Given the description of an element on the screen output the (x, y) to click on. 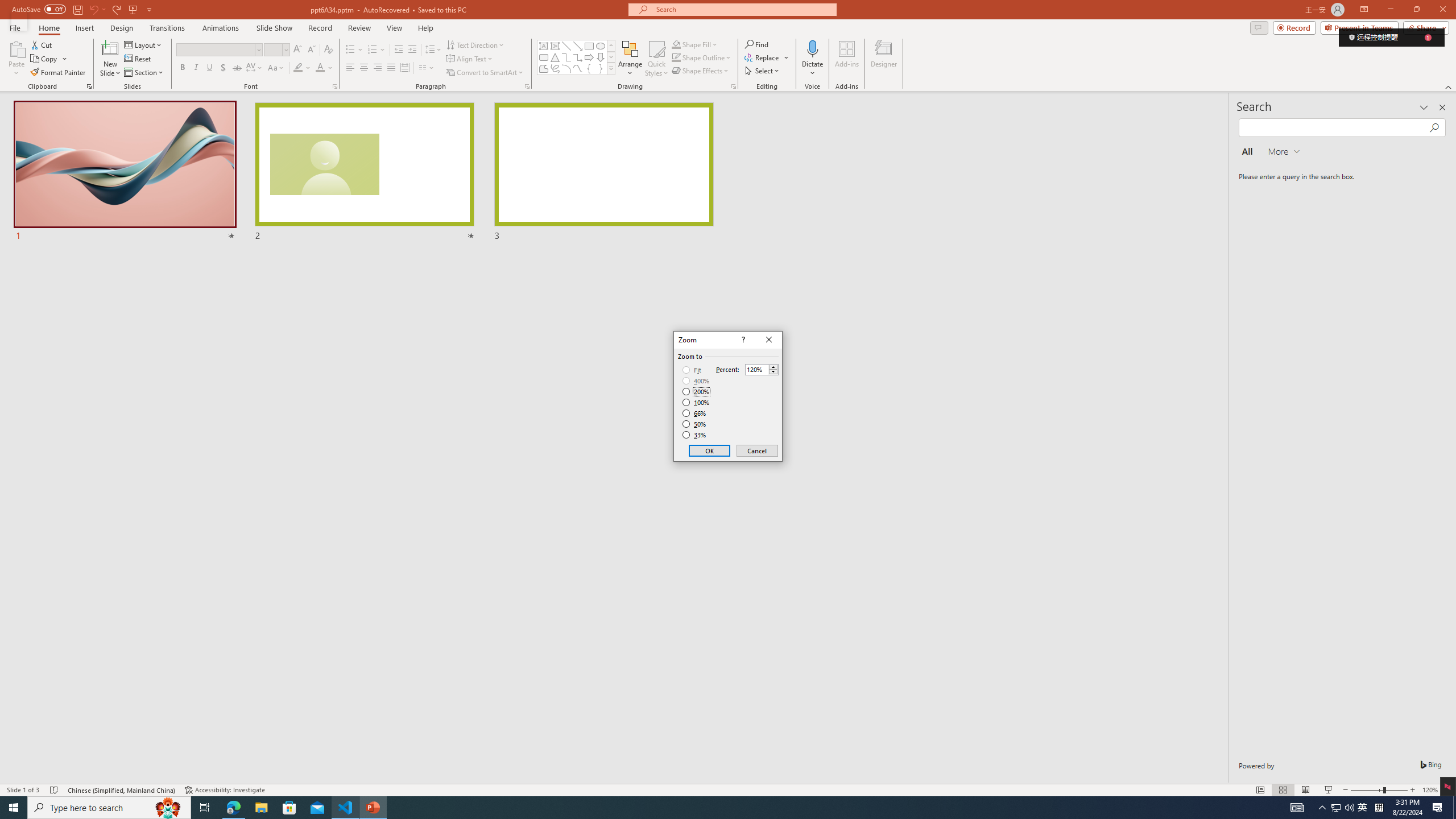
Fit (691, 370)
Context help (742, 339)
PowerPoint - 1 running window (373, 807)
Tray Input Indicator - Chinese (Simplified, China) (1378, 807)
50% (694, 424)
Text Box (543, 45)
